Given the description of an element on the screen output the (x, y) to click on. 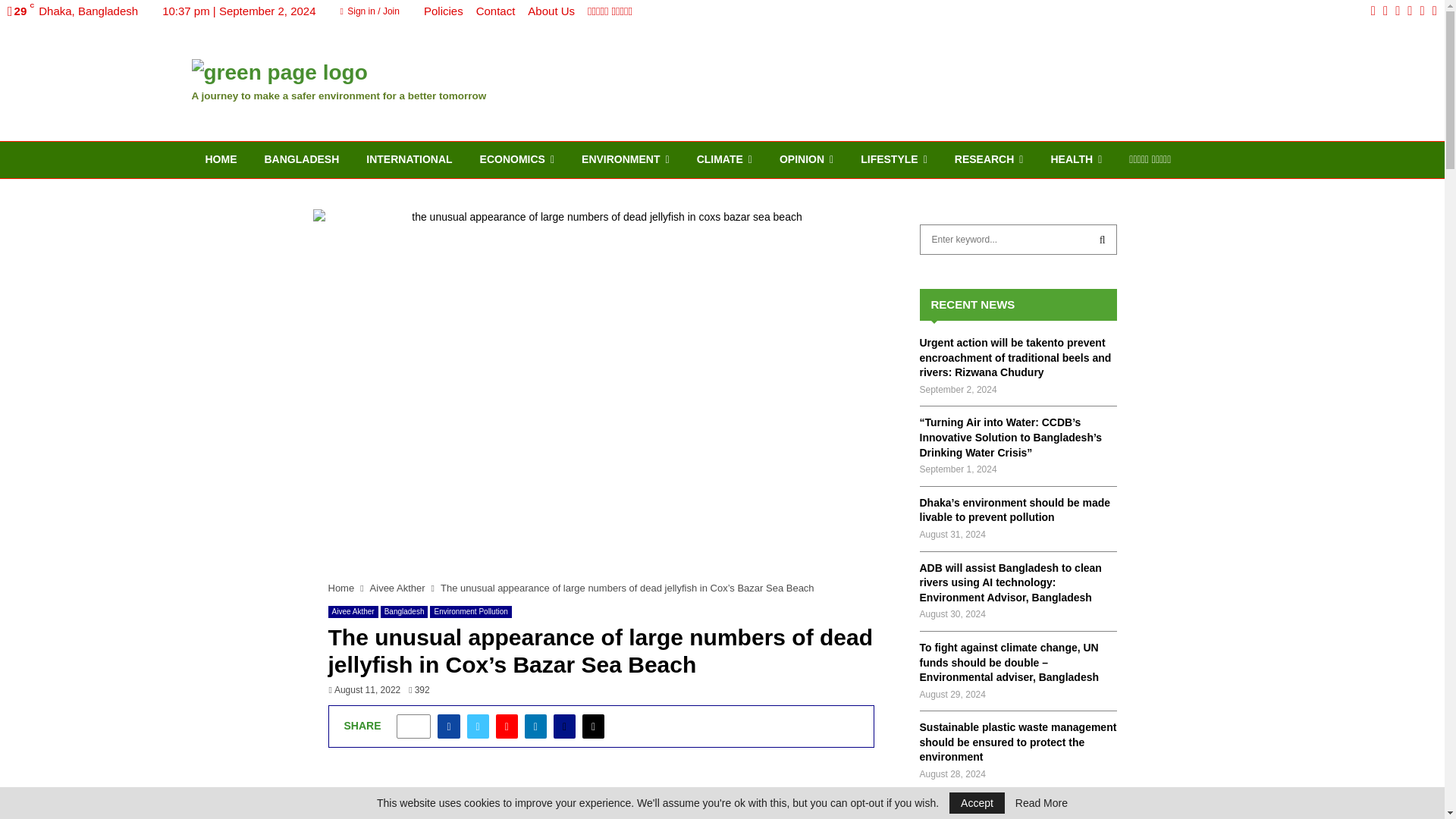
OPINION (806, 159)
Sign up new account (722, 528)
About Us (551, 11)
BANGLADESH (301, 159)
ENVIRONMENT (624, 159)
Advertisement (976, 79)
Like (413, 726)
INTERNATIONAL (408, 159)
Policies (443, 11)
Advertisement (600, 799)
